Given the description of an element on the screen output the (x, y) to click on. 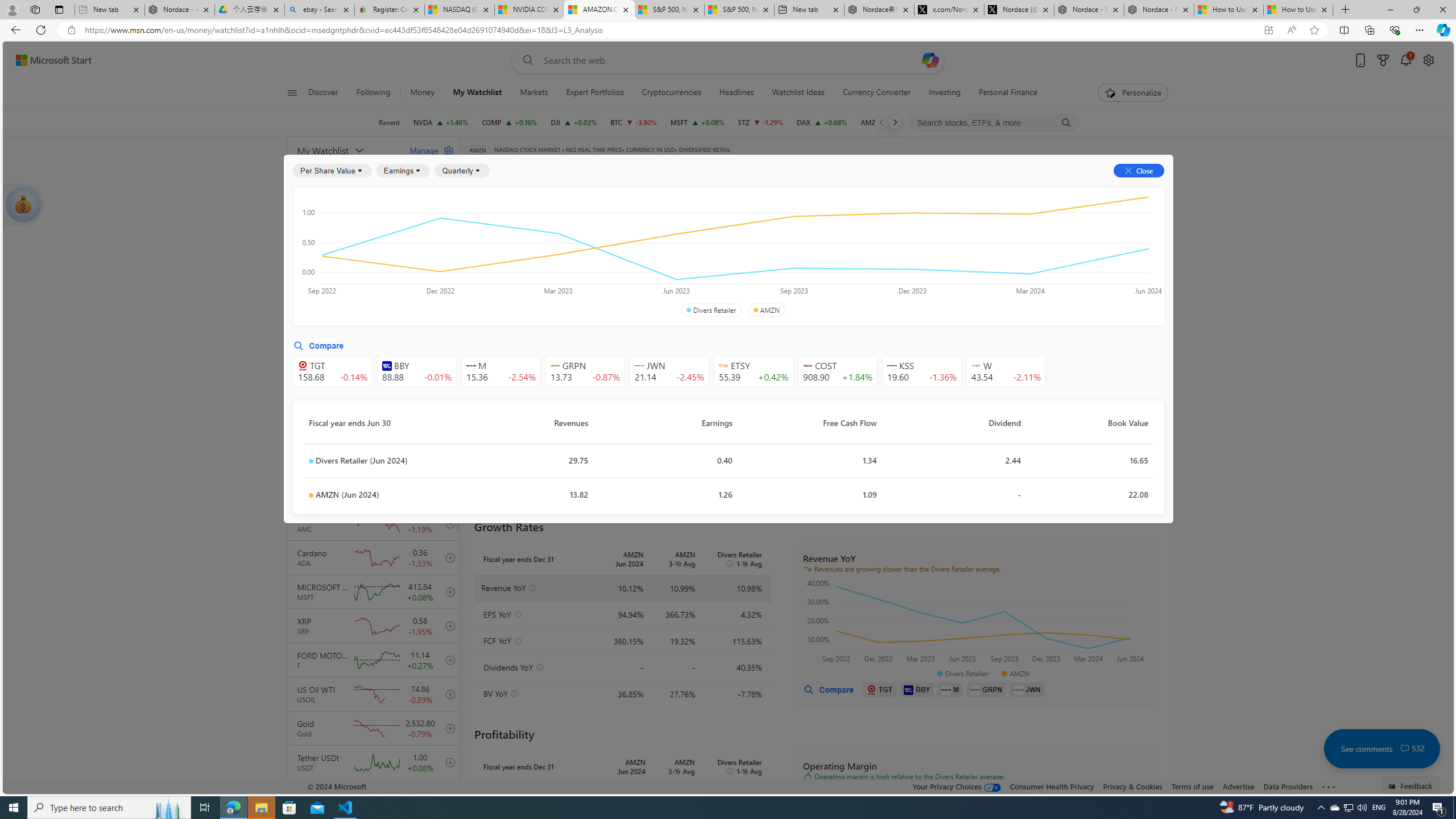
M (950, 689)
x.com/NordaceOfficial (949, 9)
AMZN AMAZON.COM, INC. decrease 173.12 -2.38 -1.36% (887, 122)
Search stocks, ETFs, & more (995, 122)
Privacy & Cookies (1131, 785)
Class: cwt-icon-vector (1404, 748)
BBY (916, 689)
Divers Retailer (711, 310)
remove from your watchlist (447, 283)
